Given the description of an element on the screen output the (x, y) to click on. 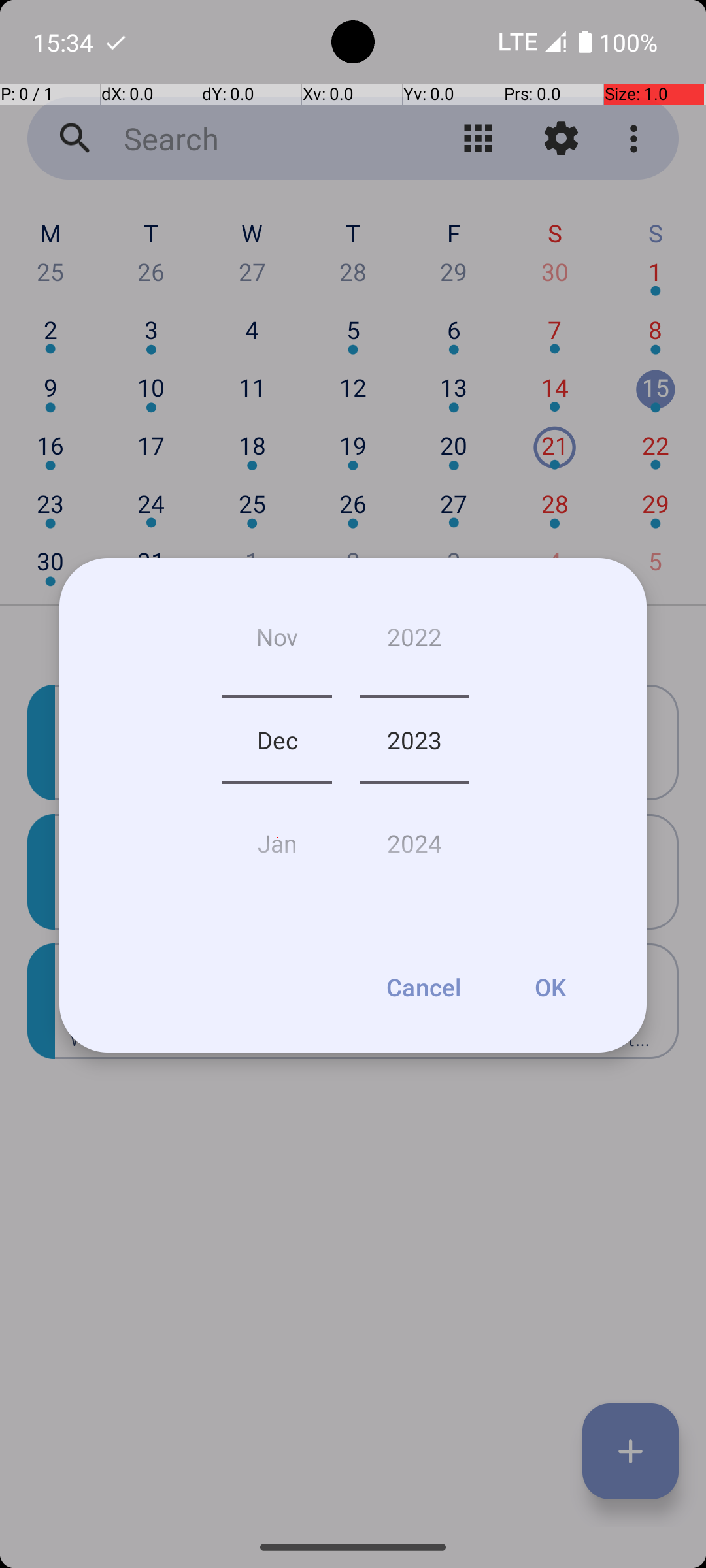
Dec Element type: android.widget.EditText (277, 739)
Jan Element type: android.widget.Button (277, 837)
